Given the description of an element on the screen output the (x, y) to click on. 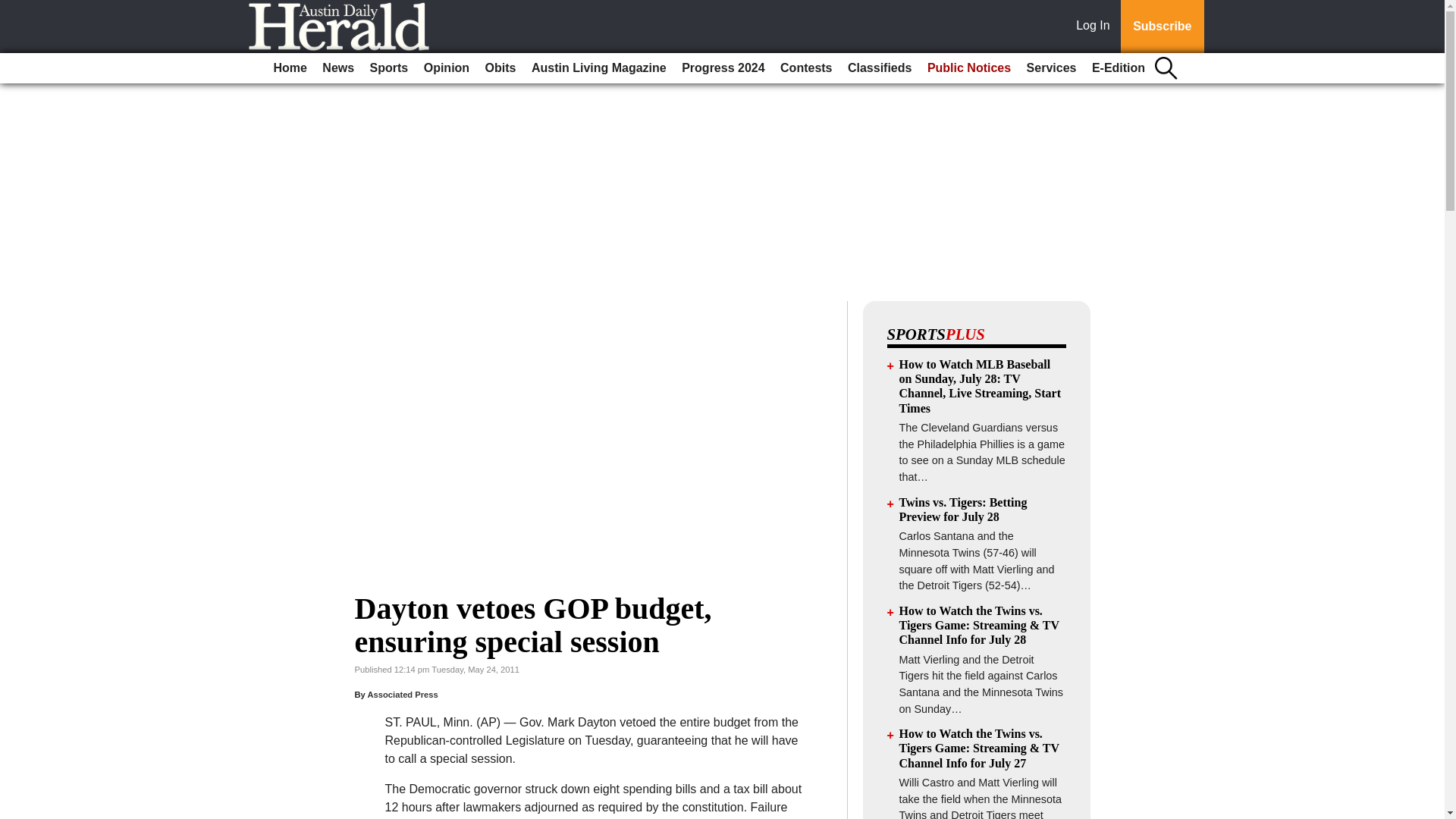
Home (289, 68)
Log In (1095, 26)
Opinion (446, 68)
Subscribe (1162, 26)
Public Notices (968, 68)
Contests (806, 68)
Sports (389, 68)
Services (1051, 68)
News (337, 68)
Classifieds (879, 68)
Austin Living Magazine (598, 68)
Obits (500, 68)
Progress 2024 (722, 68)
